Given the description of an element on the screen output the (x, y) to click on. 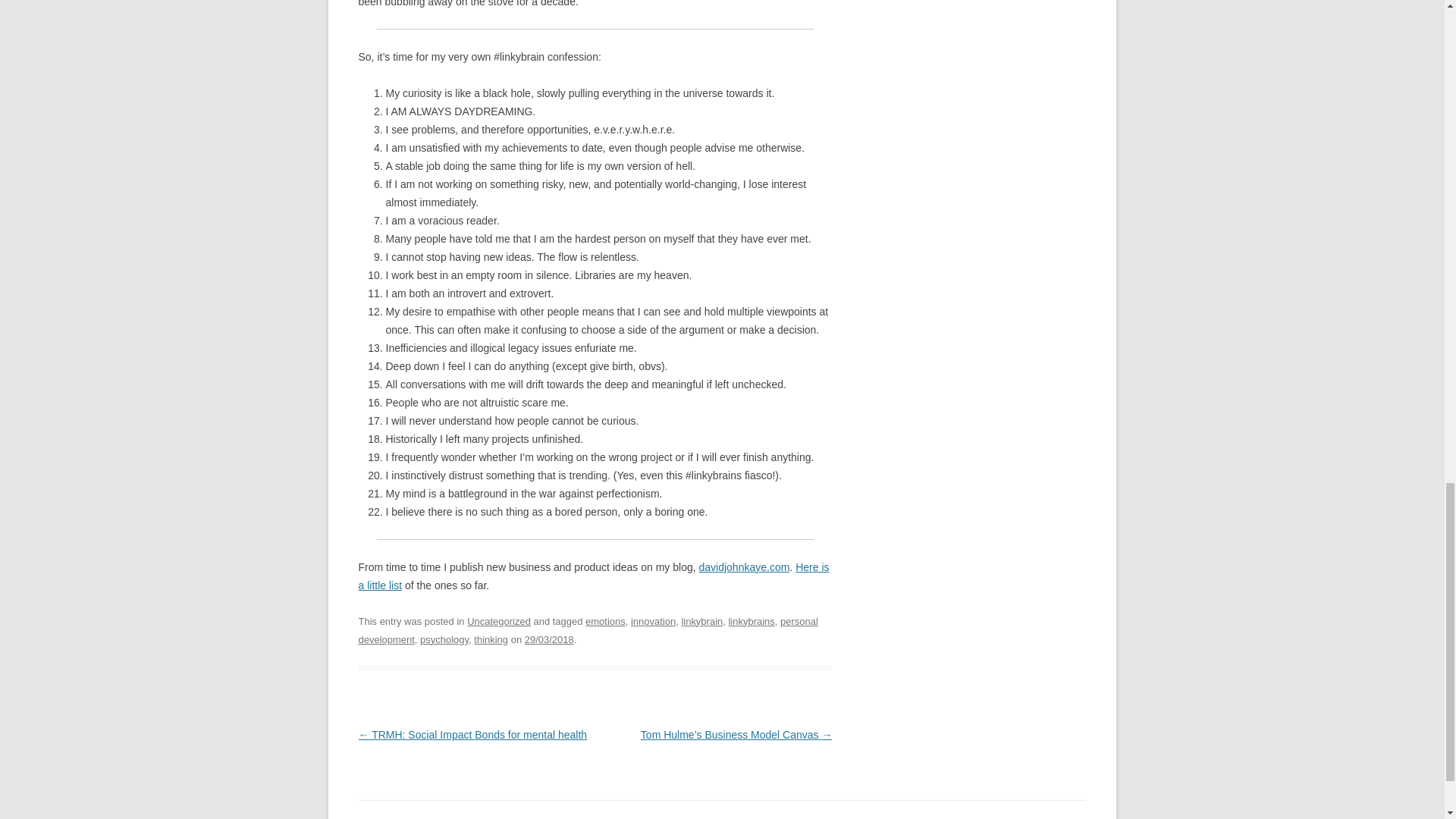
psychology (444, 639)
emotions (605, 621)
linkybrain (701, 621)
davidjohnkaye.com (744, 567)
Uncategorized (499, 621)
thinking (491, 639)
linkybrains (751, 621)
personal development (587, 630)
innovation (652, 621)
Here is a little list (593, 576)
